Given the description of an element on the screen output the (x, y) to click on. 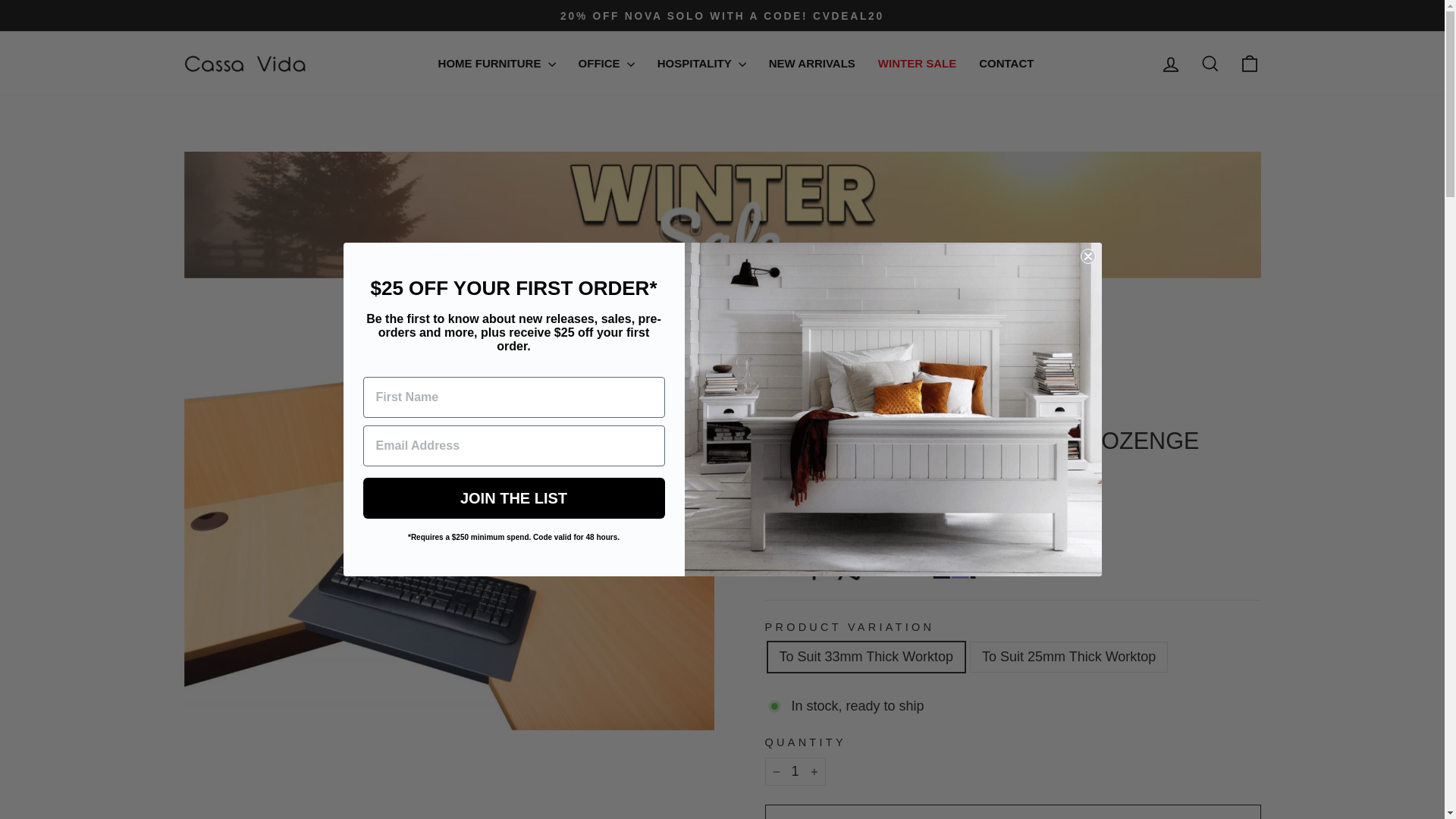
1 (794, 771)
ICON-SEARCH (1210, 63)
CassaVida (810, 415)
Back to the frontpage (779, 391)
0 Reviews (827, 477)
ACCOUNT (1170, 64)
ICON-BAG-MINIMAL (1249, 63)
